Given the description of an element on the screen output the (x, y) to click on. 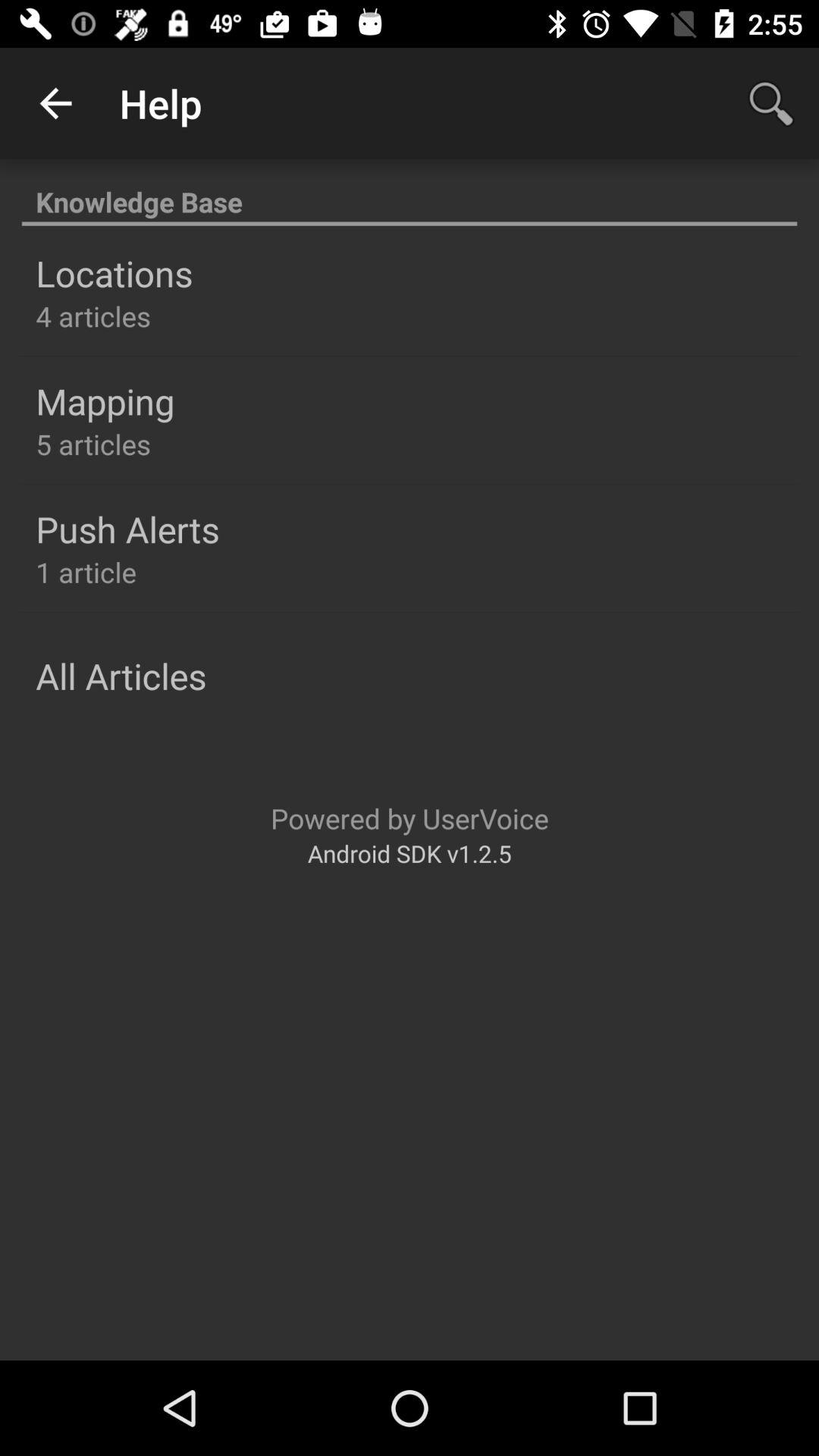
scroll until the mapping item (104, 401)
